Given the description of an element on the screen output the (x, y) to click on. 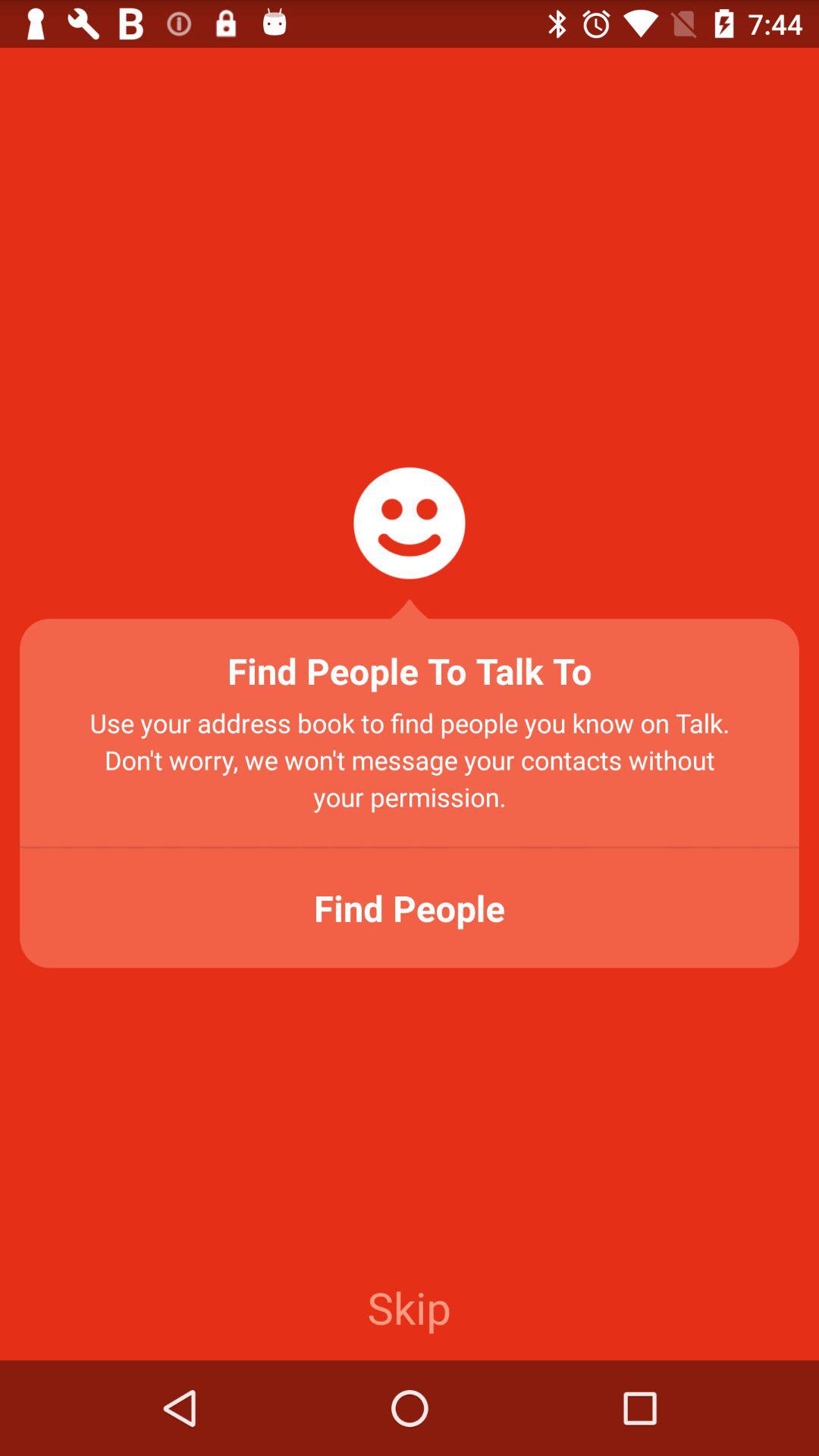
choose the skip app (409, 1306)
